Given the description of an element on the screen output the (x, y) to click on. 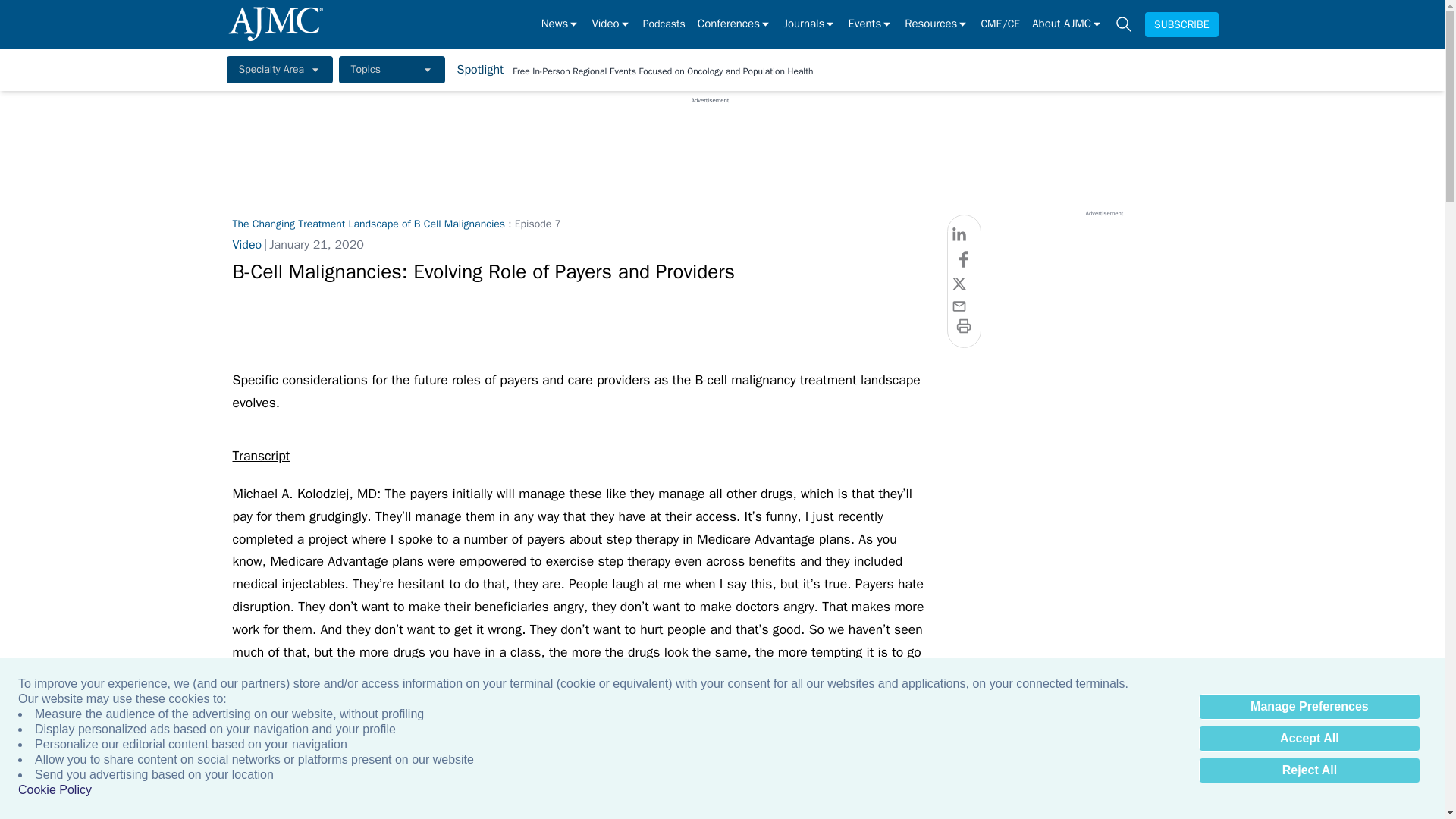
Cookie Policy (54, 789)
Accept All (1309, 738)
Conferences (734, 24)
Journals (809, 24)
Manage Preferences (1309, 706)
Video (610, 24)
Events (869, 24)
3rd party ad content (709, 138)
Reject All (1309, 769)
